Given the description of an element on the screen output the (x, y) to click on. 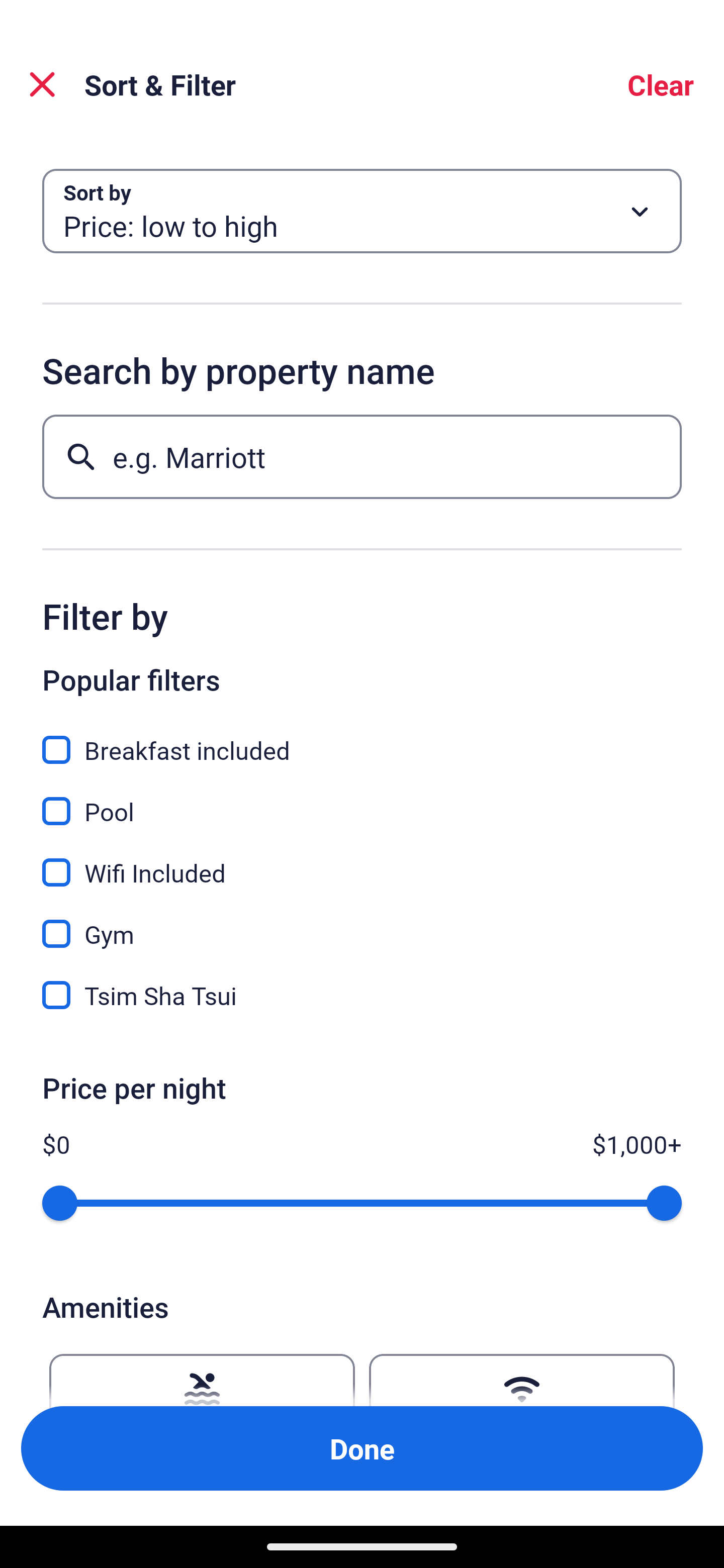
Close Sort and Filter (42, 84)
Clear (660, 84)
Sort by Button Price: low to high (361, 211)
e.g. Marriott Button (361, 455)
Breakfast included, Breakfast included (361, 738)
Pool, Pool (361, 800)
Wifi Included, Wifi Included (361, 861)
Gym, Gym (361, 922)
Tsim Sha Tsui, Tsim Sha Tsui (361, 995)
Apply and close Sort and Filter Done (361, 1448)
